Given the description of an element on the screen output the (x, y) to click on. 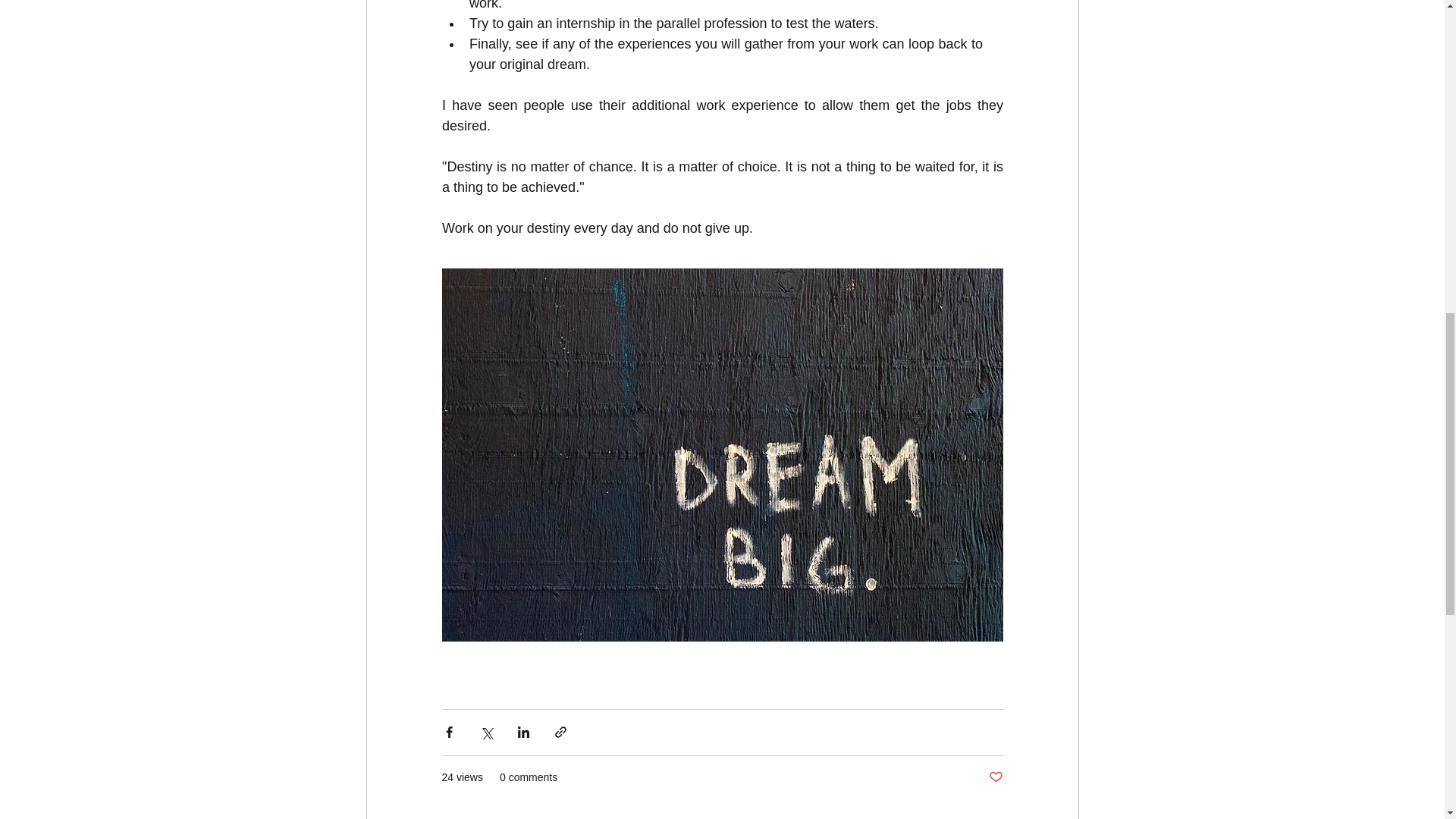
Post not marked as liked (995, 777)
